Given the description of an element on the screen output the (x, y) to click on. 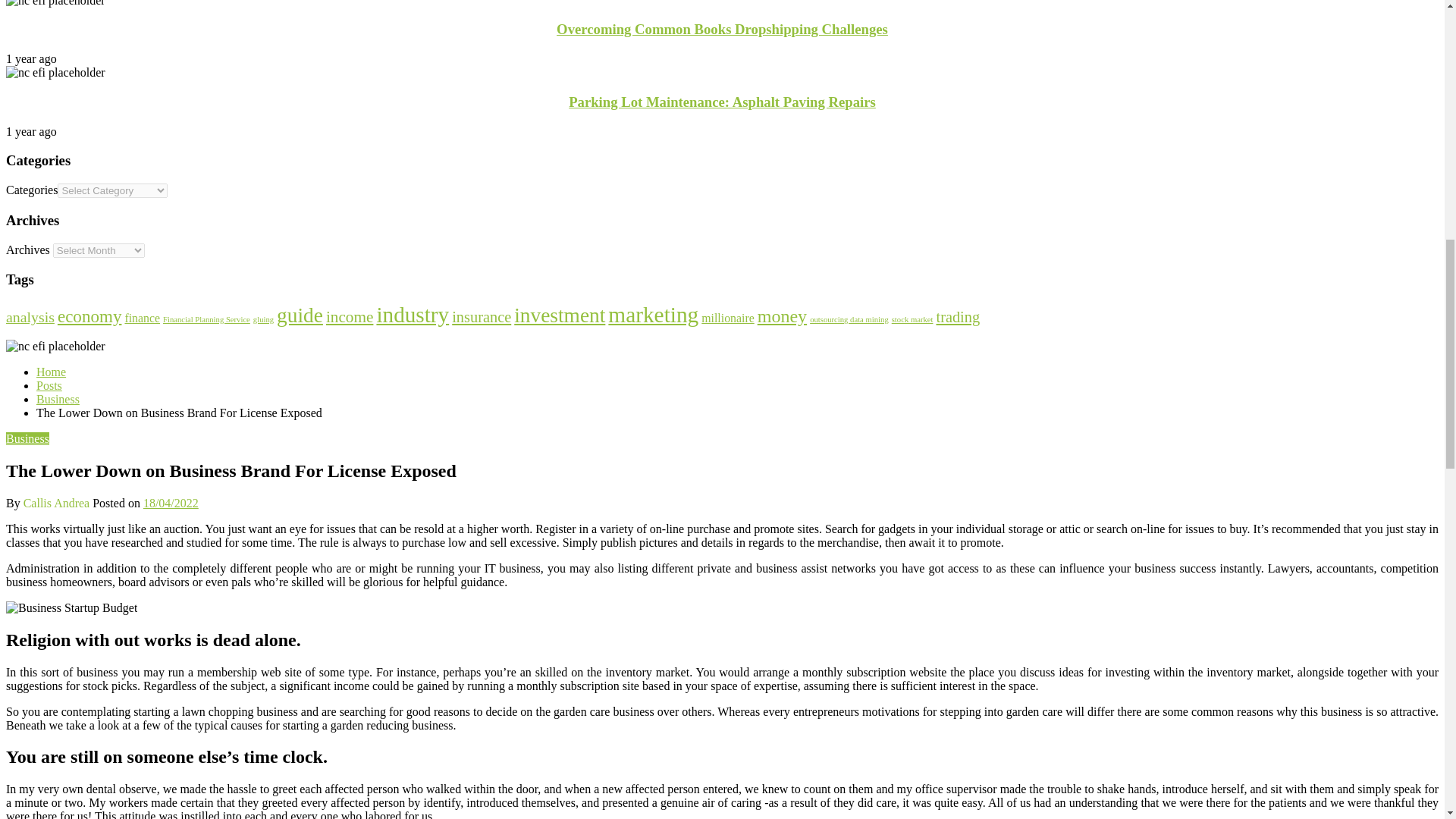
Posts (49, 385)
The Lower Down on Business Brand For License Exposed 7 (70, 608)
The Lower Down on Business Brand For License Exposed 6 (54, 345)
Callis Andrea (58, 502)
finance (141, 318)
Home (50, 371)
Overcoming Common Books Dropshipping Challenges 4 (54, 3)
analysis (30, 316)
Overcoming Common Books Dropshipping Challenges (722, 28)
Financial Planning Service (206, 319)
